Given the description of an element on the screen output the (x, y) to click on. 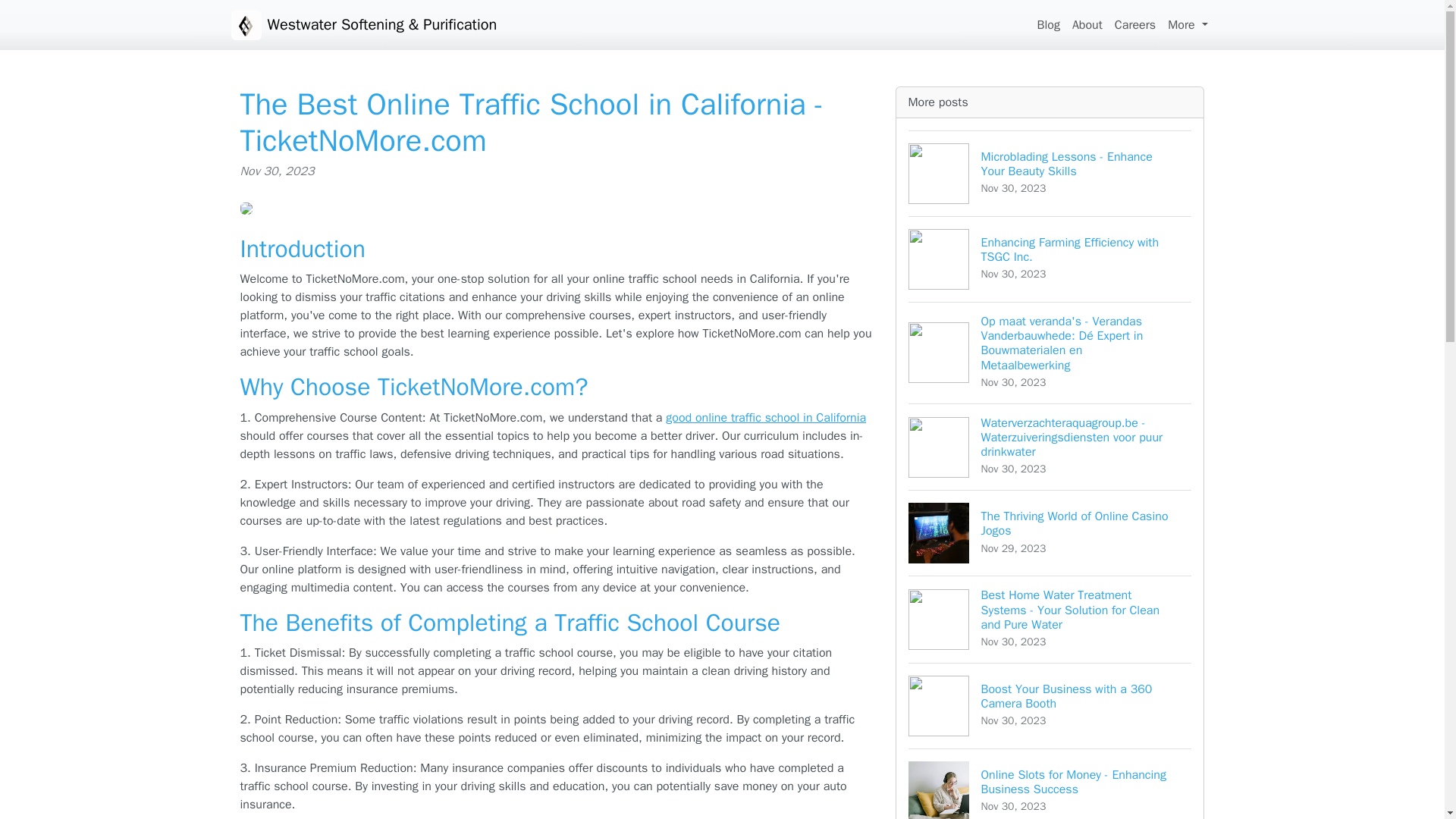
About (1050, 705)
Careers (1086, 24)
Blog (1134, 24)
good online traffic school in California (1050, 259)
More (1047, 24)
